Given the description of an element on the screen output the (x, y) to click on. 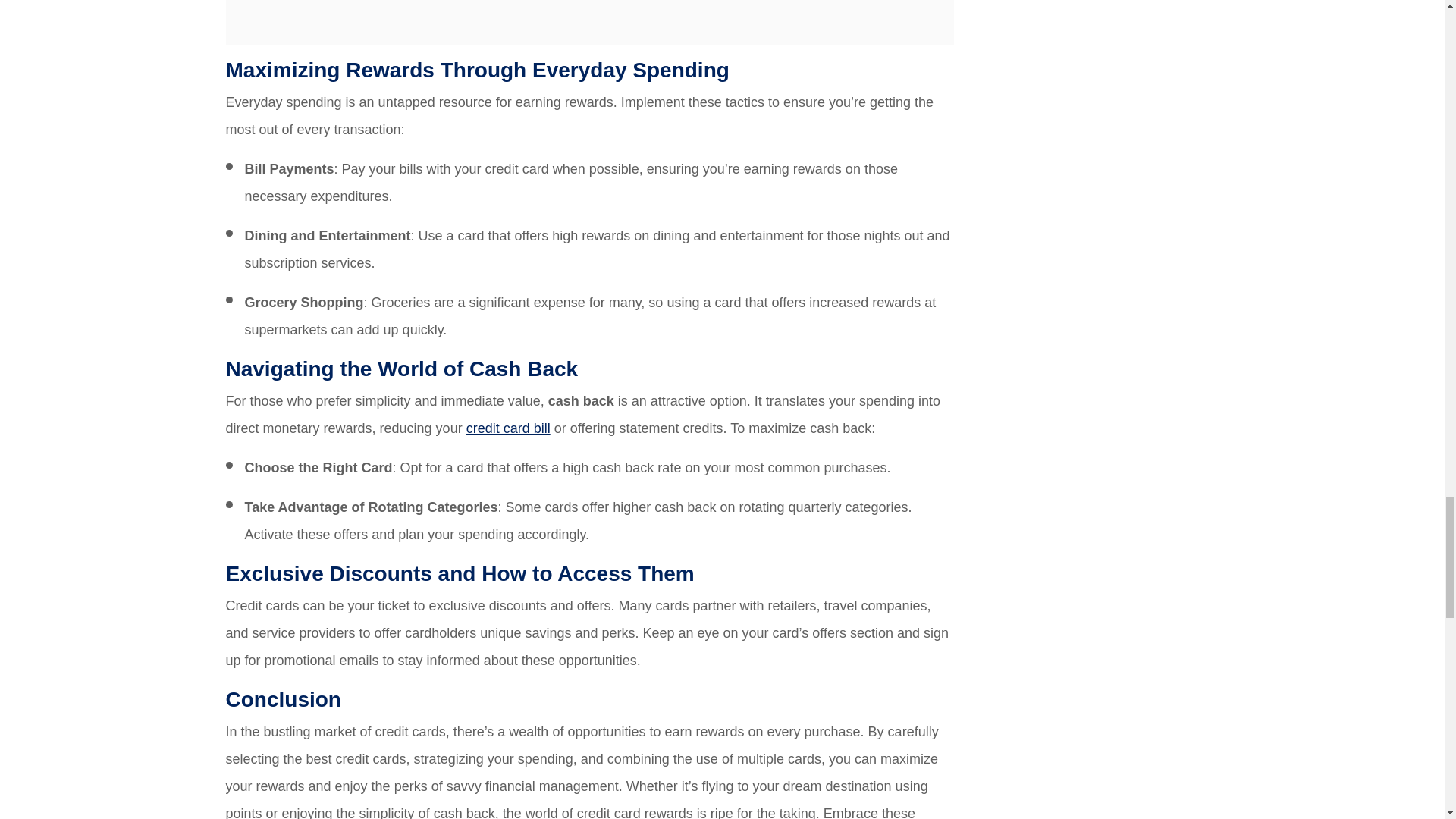
credit card bill (507, 427)
credit card bill (507, 427)
